Given the description of an element on the screen output the (x, y) to click on. 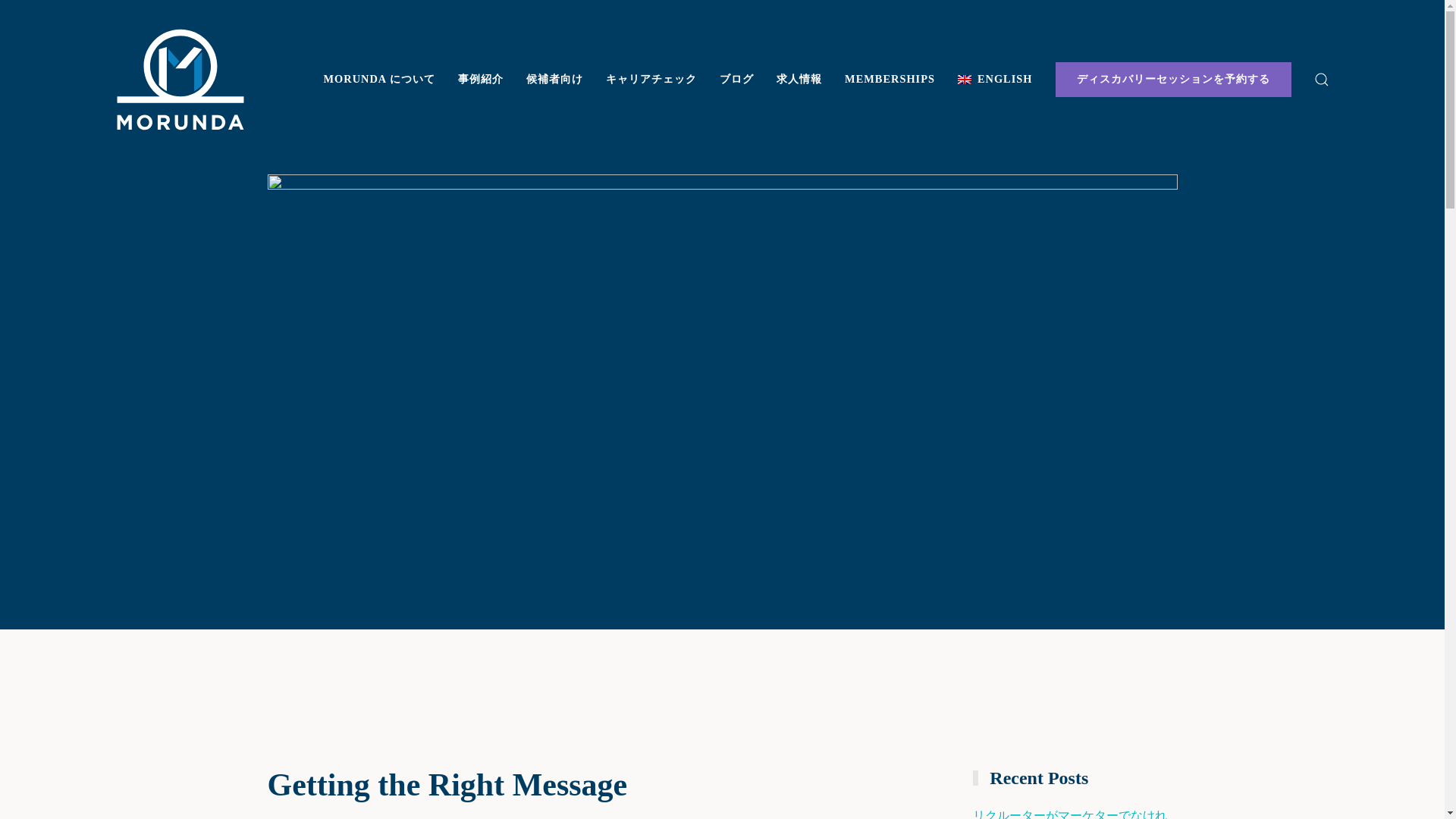
English (995, 79)
MEMBERSHIPS (889, 79)
ENGLISH (995, 79)
